Given the description of an element on the screen output the (x, y) to click on. 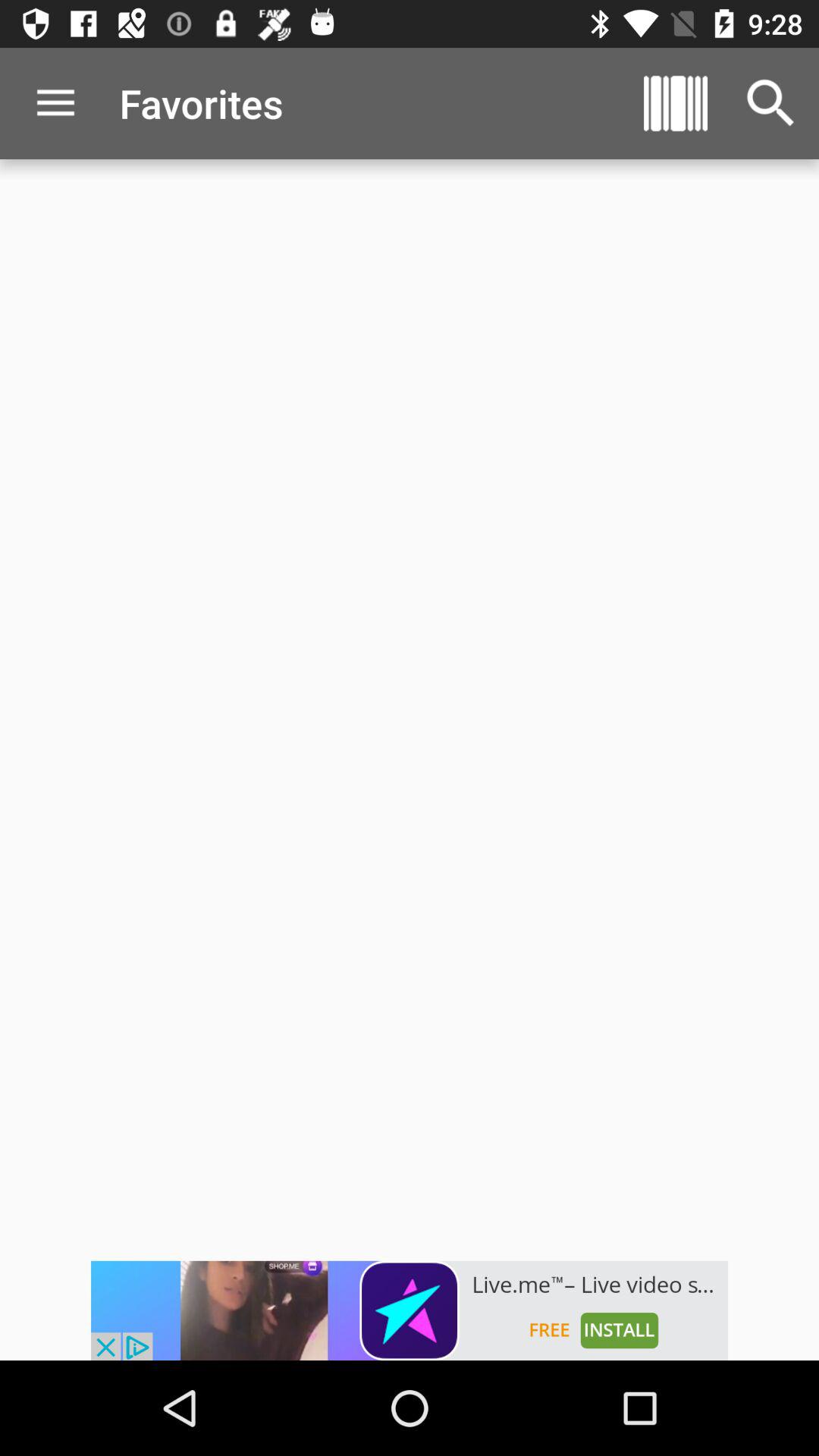
open advertisement (409, 1310)
